Given the description of an element on the screen output the (x, y) to click on. 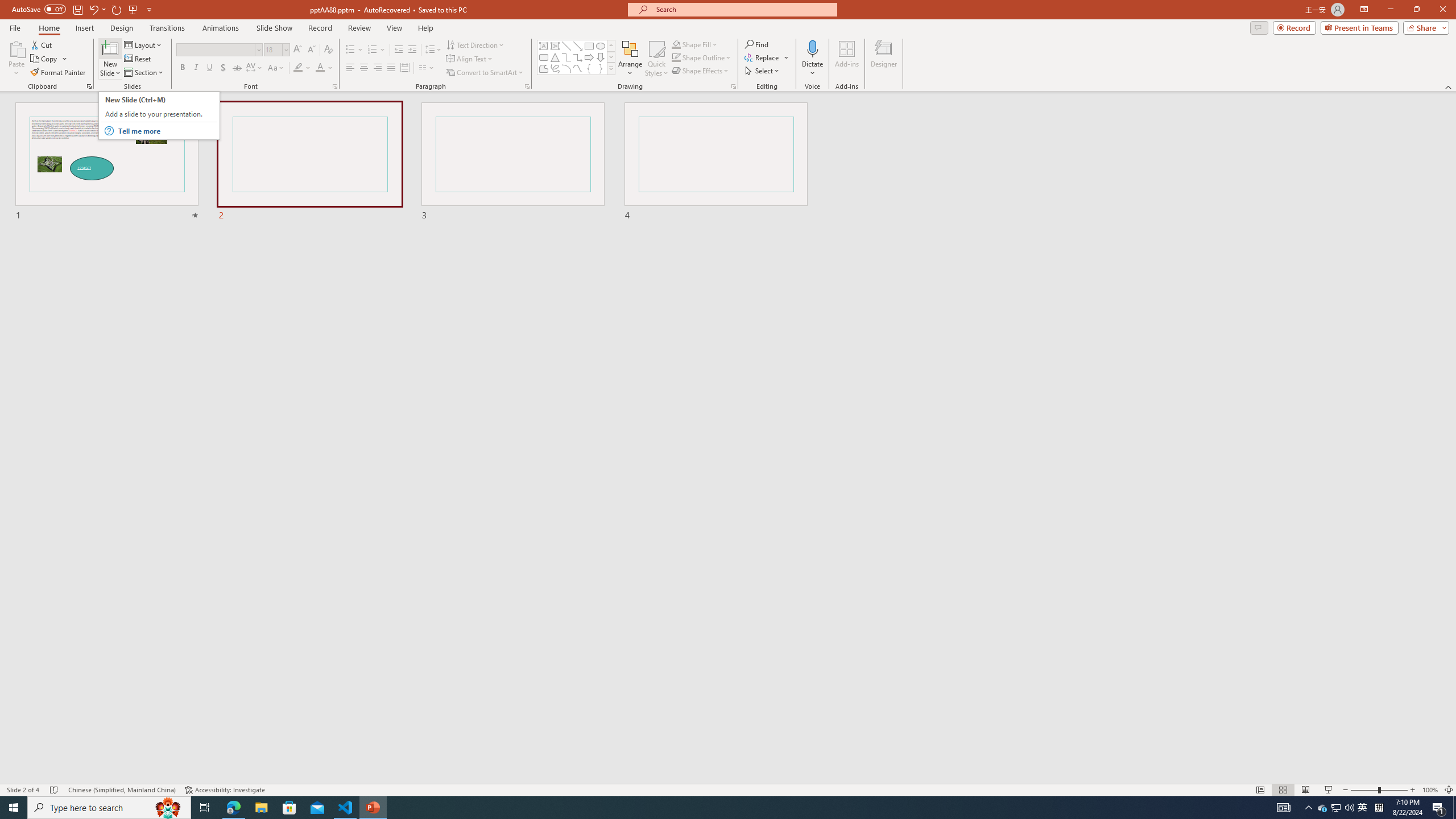
Comments (1259, 27)
Quick Styles (656, 58)
Align Left (349, 67)
More Options (812, 68)
Left Brace (589, 68)
Clear Formatting (327, 49)
Vertical Text Box (554, 45)
Numbering (376, 49)
Arrange (630, 58)
Decrease Indent (398, 49)
Section (144, 72)
Dictate (812, 48)
Increase Font Size (297, 49)
Underline (209, 67)
Undo (96, 9)
